Given the description of an element on the screen output the (x, y) to click on. 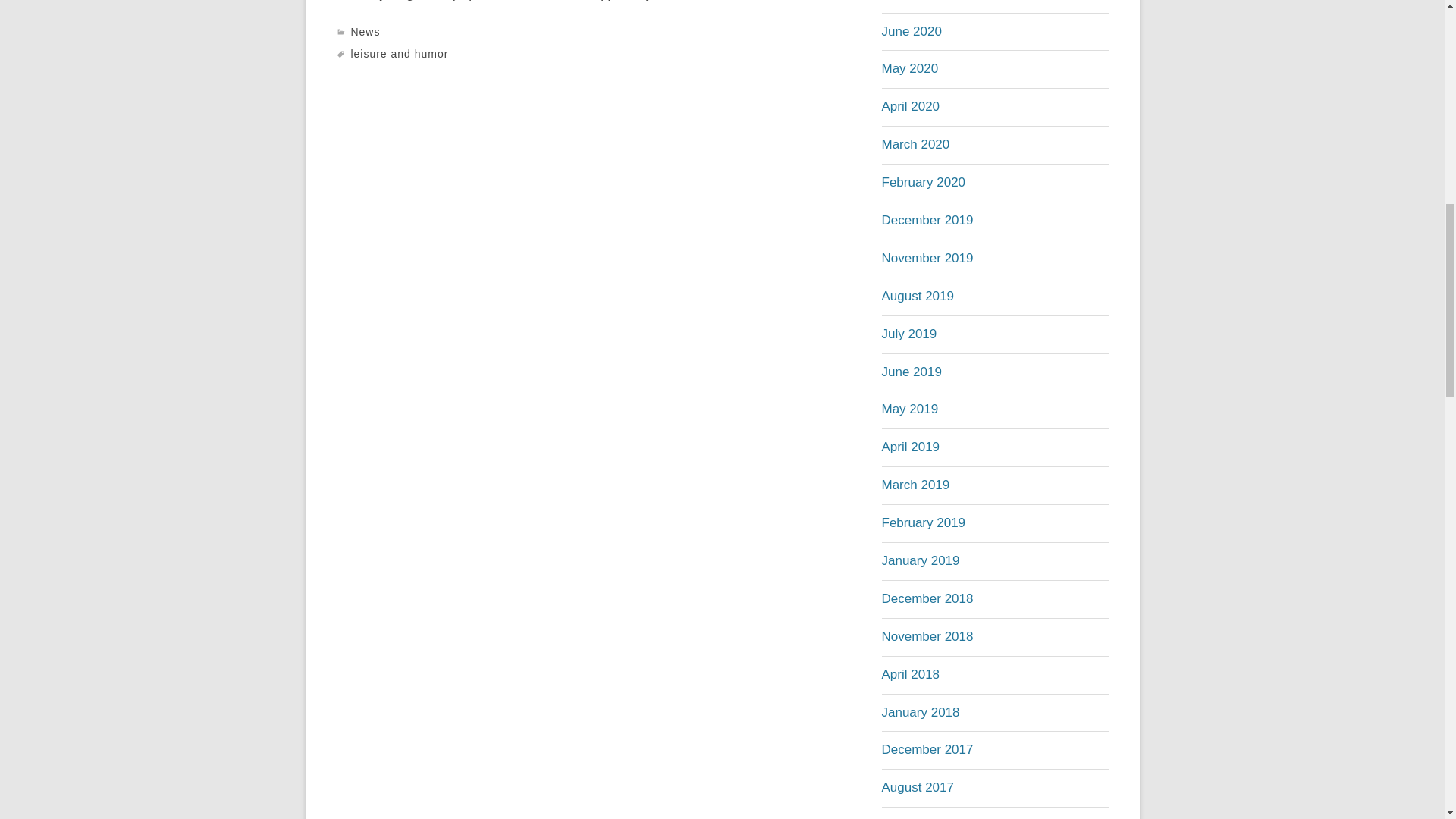
April 2020 (909, 106)
June 2019 (910, 371)
leisure and humor (399, 53)
March 2019 (914, 484)
May 2019 (908, 409)
November 2019 (926, 257)
July 2020 (908, 0)
April 2019 (909, 446)
March 2020 (914, 144)
February 2020 (922, 182)
August 2019 (916, 296)
June 2020 (910, 31)
February 2019 (922, 522)
December 2019 (926, 219)
News (365, 31)
